Given the description of an element on the screen output the (x, y) to click on. 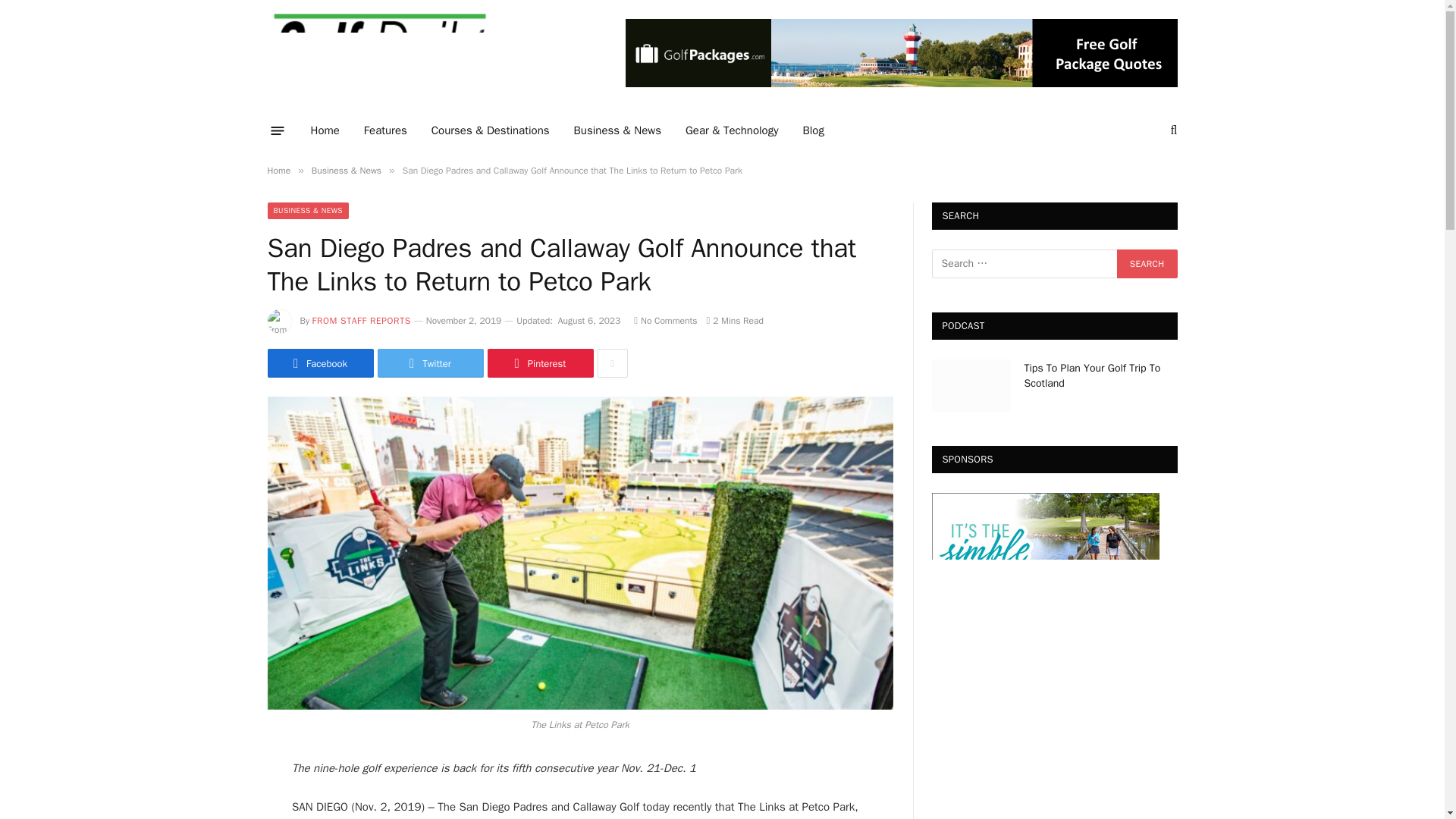
No Comments (665, 320)
Show More Social Sharing (611, 362)
Pinterest (539, 362)
Blog (812, 129)
Home (277, 170)
Facebook (319, 362)
FROM STAFF REPORTS (361, 320)
Search (1146, 263)
Share on Facebook (319, 362)
